Given the description of an element on the screen output the (x, y) to click on. 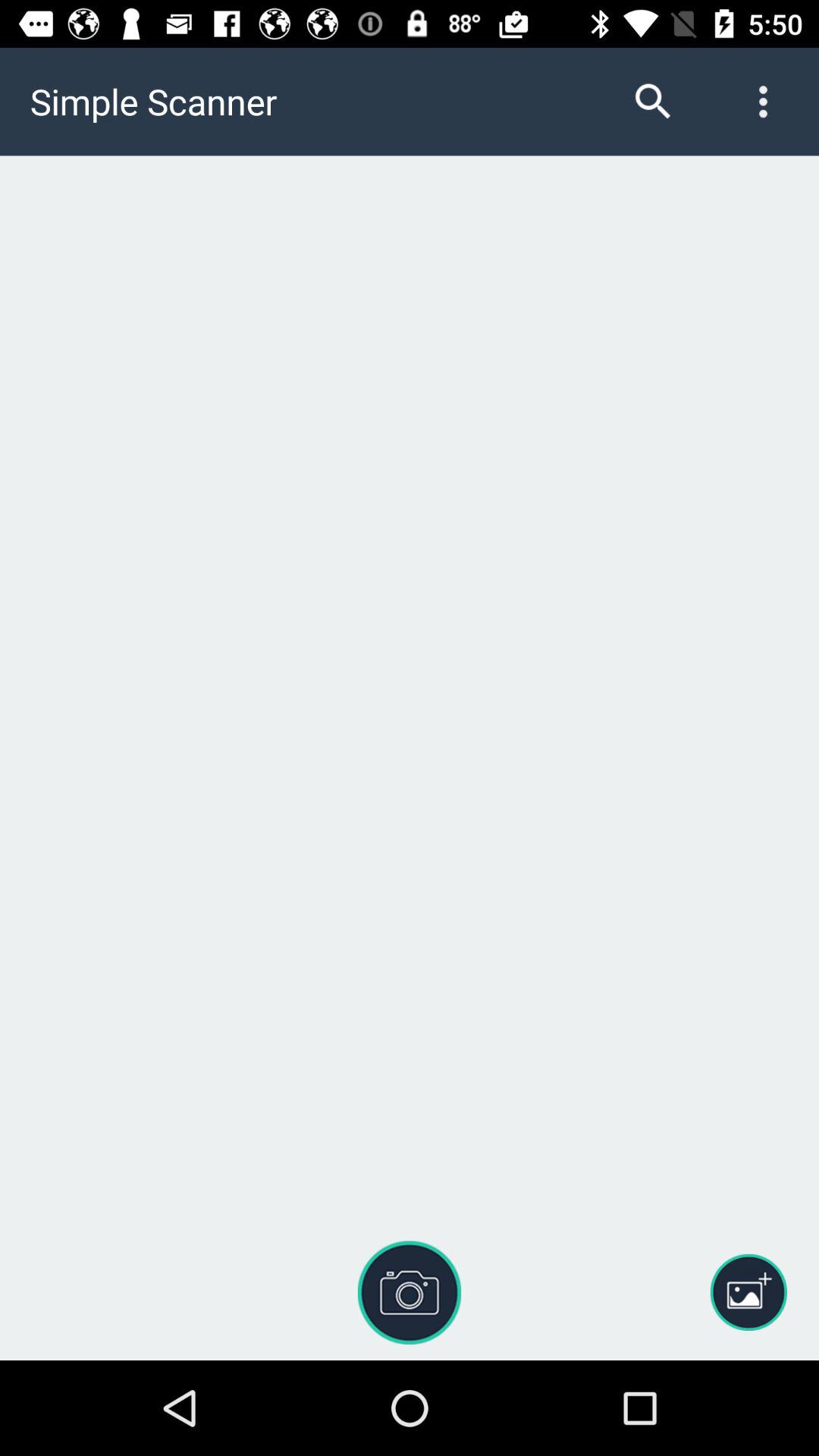
turn off the item next to simple scanner app (653, 101)
